Given the description of an element on the screen output the (x, y) to click on. 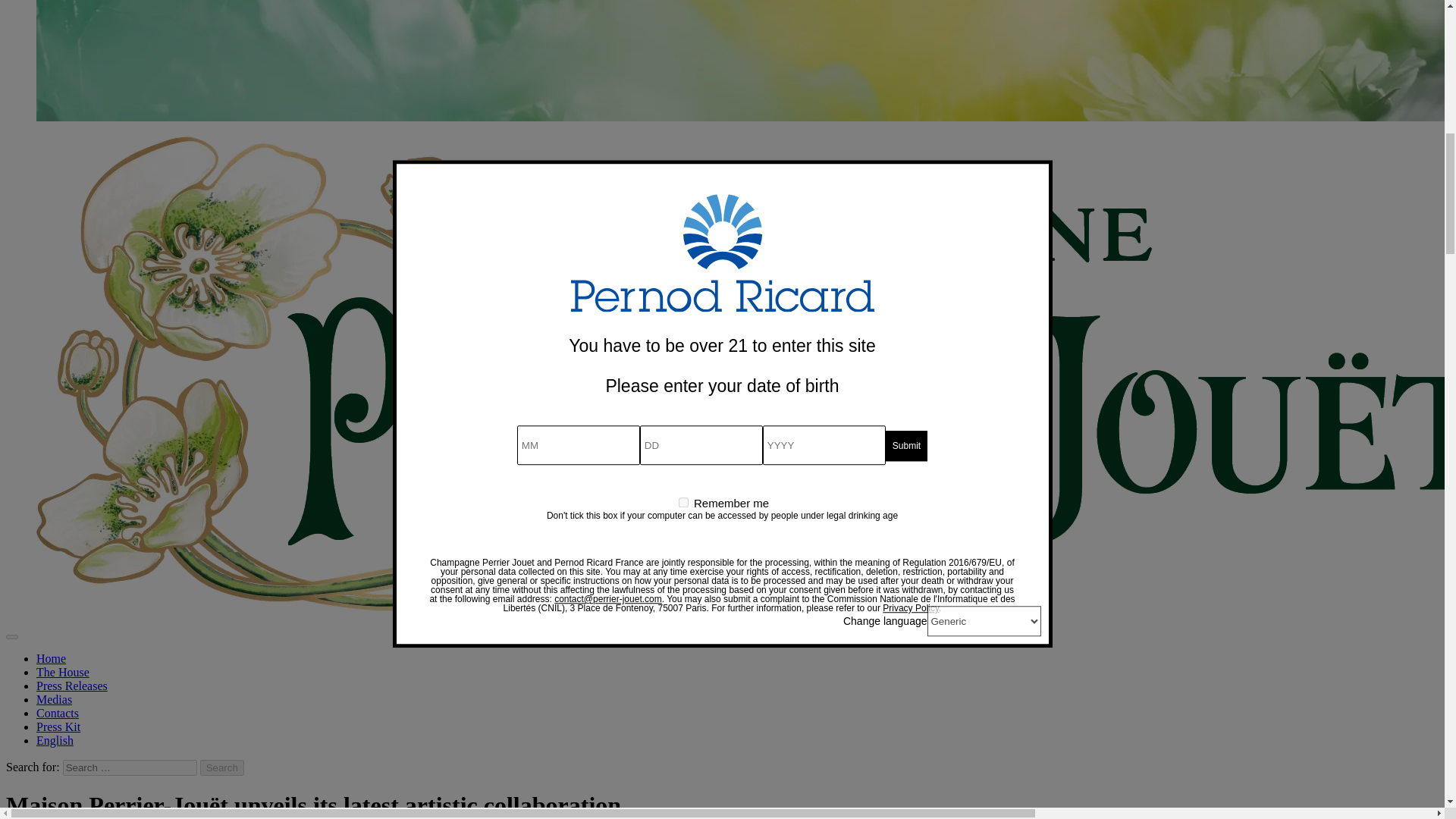
Contacts (57, 712)
Press Releases (71, 685)
Press Kit (58, 726)
Home (50, 658)
Medias (53, 698)
The House (62, 671)
Search (222, 767)
English (55, 739)
Search (222, 767)
English (55, 739)
Search (222, 767)
